Given the description of an element on the screen output the (x, y) to click on. 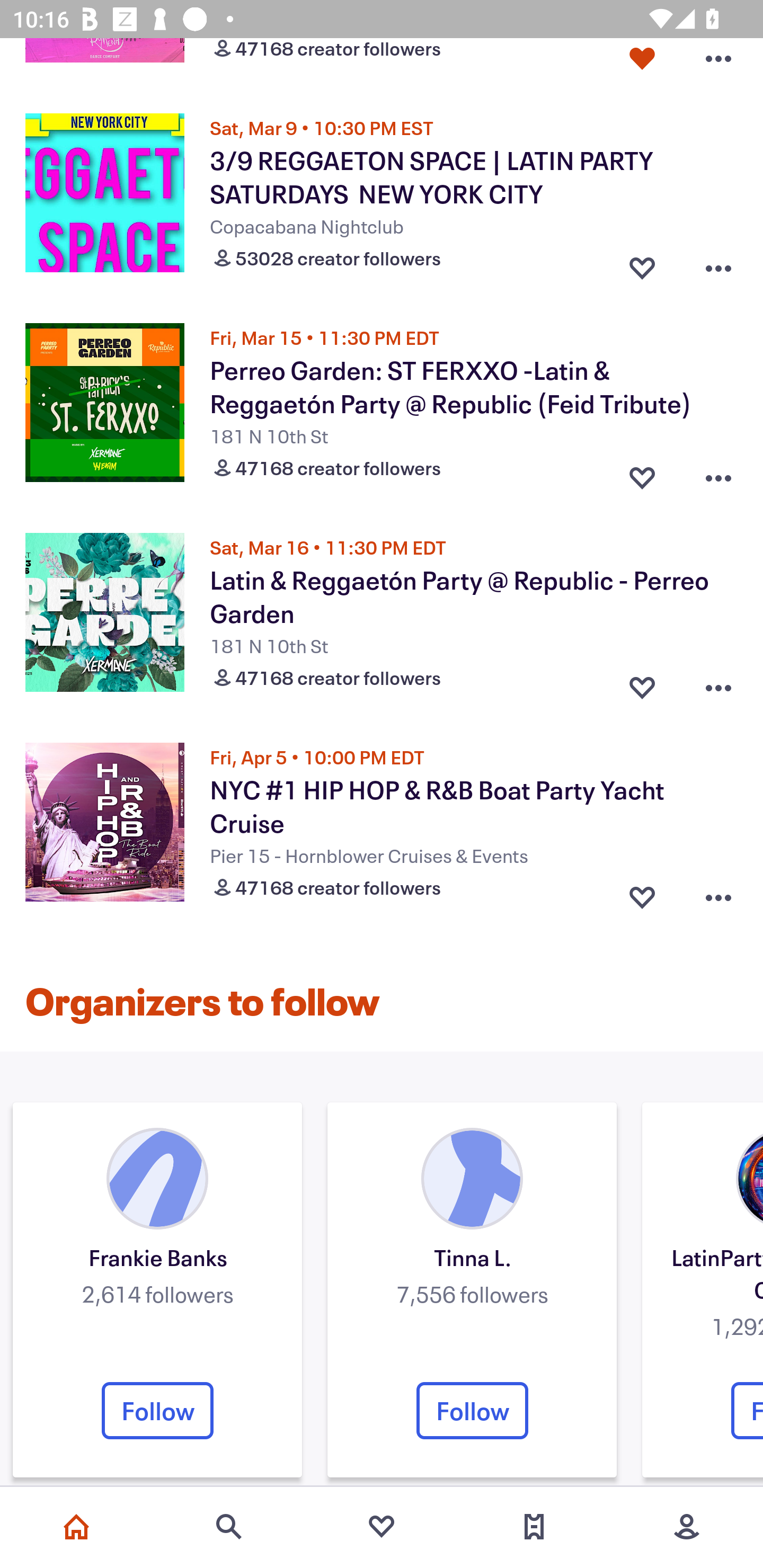
Favorite button (642, 62)
Overflow menu button (718, 62)
Favorite button (642, 263)
Overflow menu button (718, 263)
Favorite button (642, 474)
Overflow menu button (718, 474)
Favorite button (642, 683)
Overflow menu button (718, 683)
Favorite button (642, 892)
Overflow menu button (718, 892)
Follow Organizer's follow button (157, 1410)
Follow Organizer's follow button (471, 1410)
Home (76, 1526)
Search events (228, 1526)
Favorites (381, 1526)
Tickets (533, 1526)
More (686, 1526)
